Given the description of an element on the screen output the (x, y) to click on. 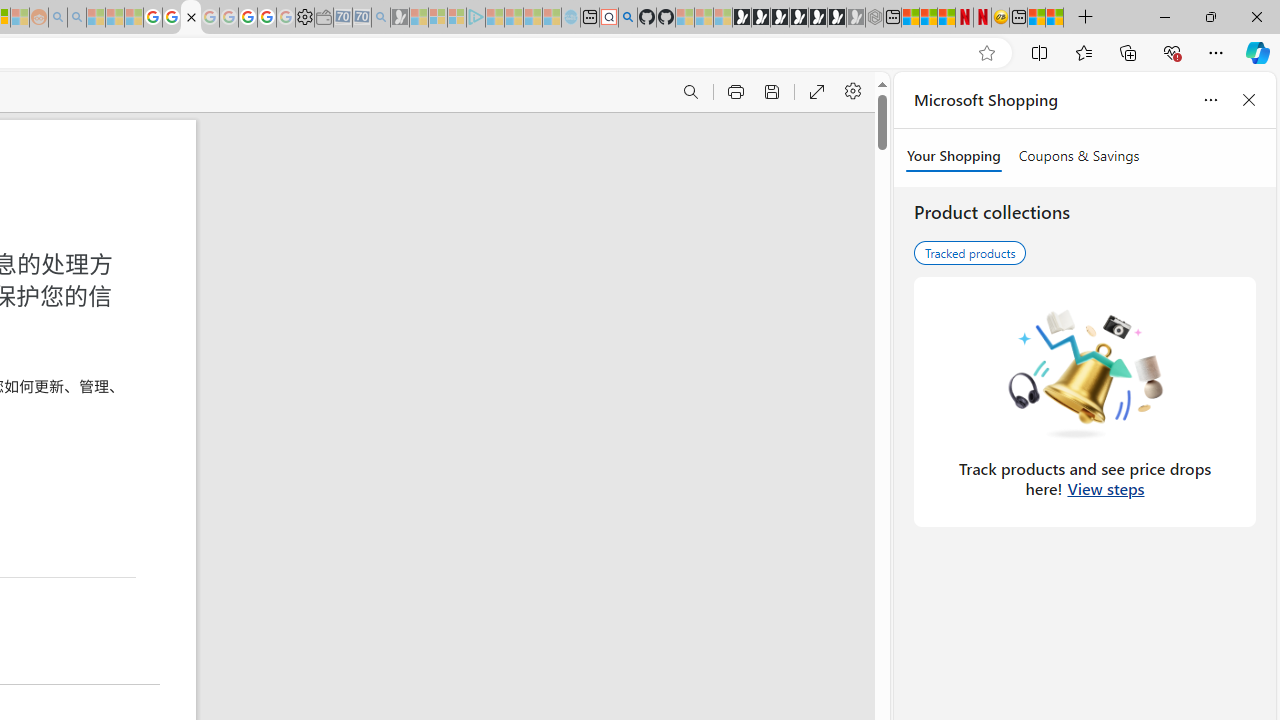
Print (Ctrl+P) (734, 92)
